Given the description of an element on the screen output the (x, y) to click on. 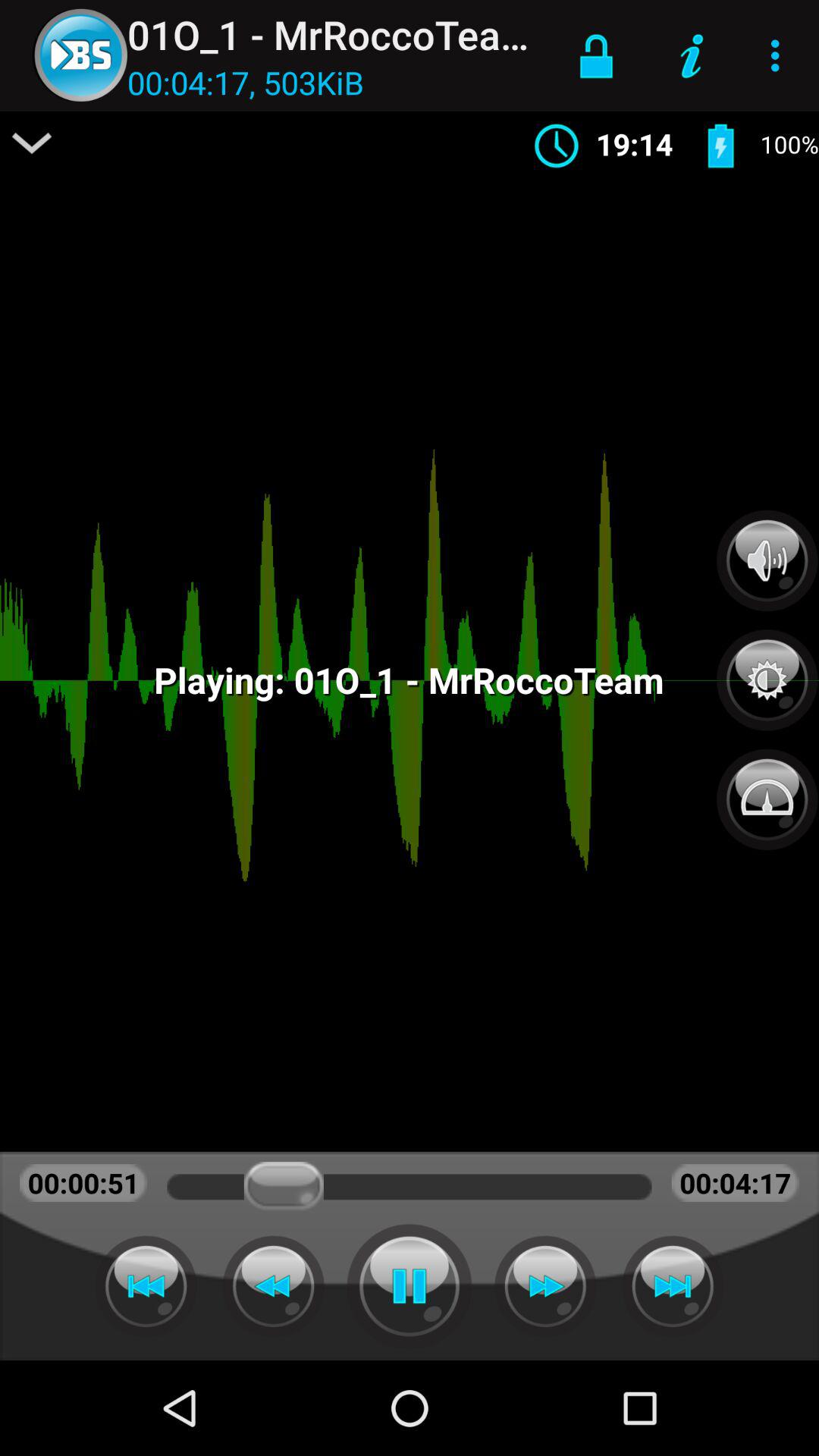
skip forward (545, 1286)
